Given the description of an element on the screen output the (x, y) to click on. 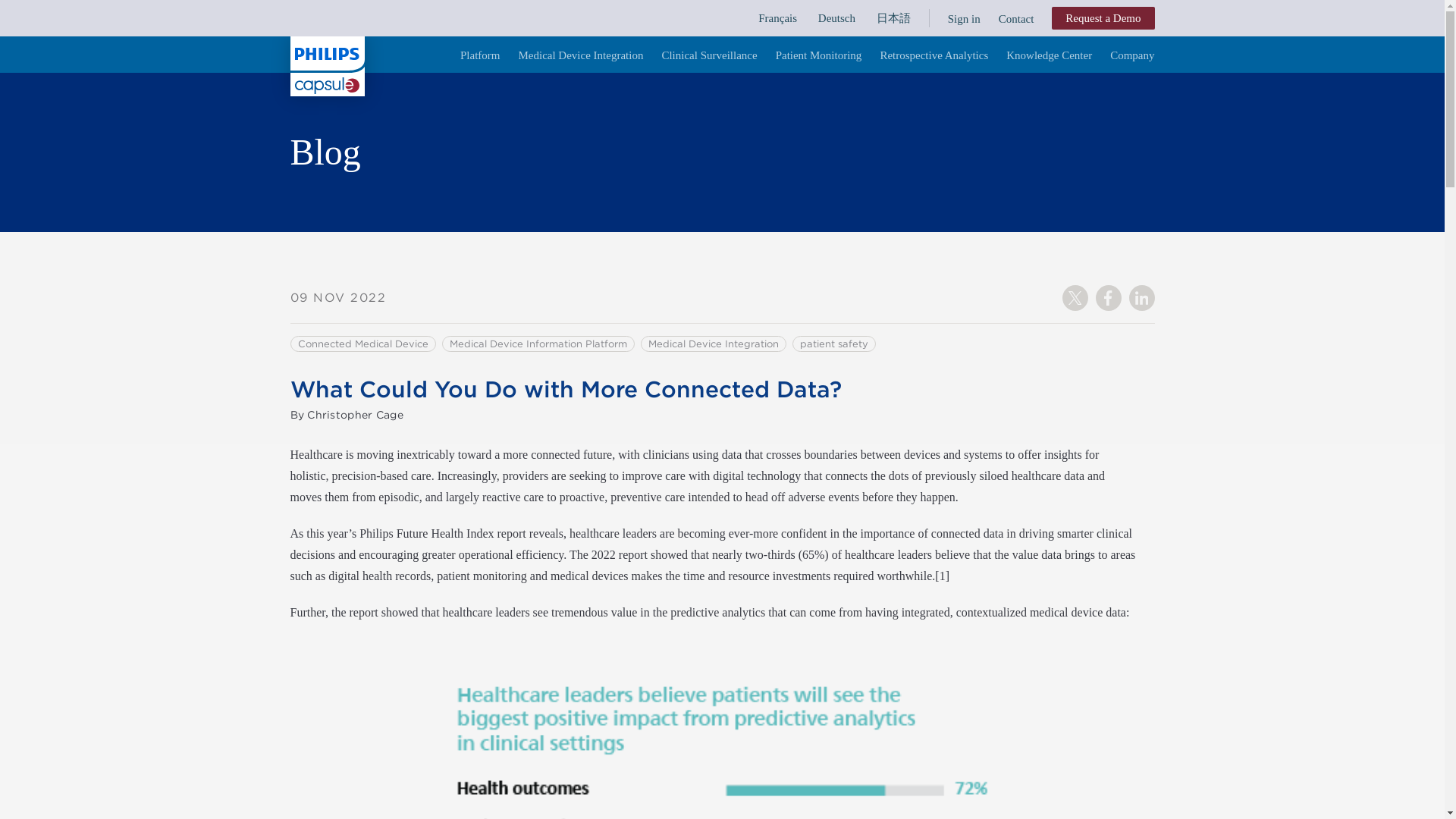
Contact (1016, 18)
Knowledge Center (1049, 55)
Platform (480, 55)
Clinical Surveillance (709, 55)
Sign in (964, 18)
Deutsch (838, 18)
Deutsch (838, 18)
Request a Demo (1102, 17)
Medical Device Integration (580, 55)
Retrospective Analytics (933, 55)
